Given the description of an element on the screen output the (x, y) to click on. 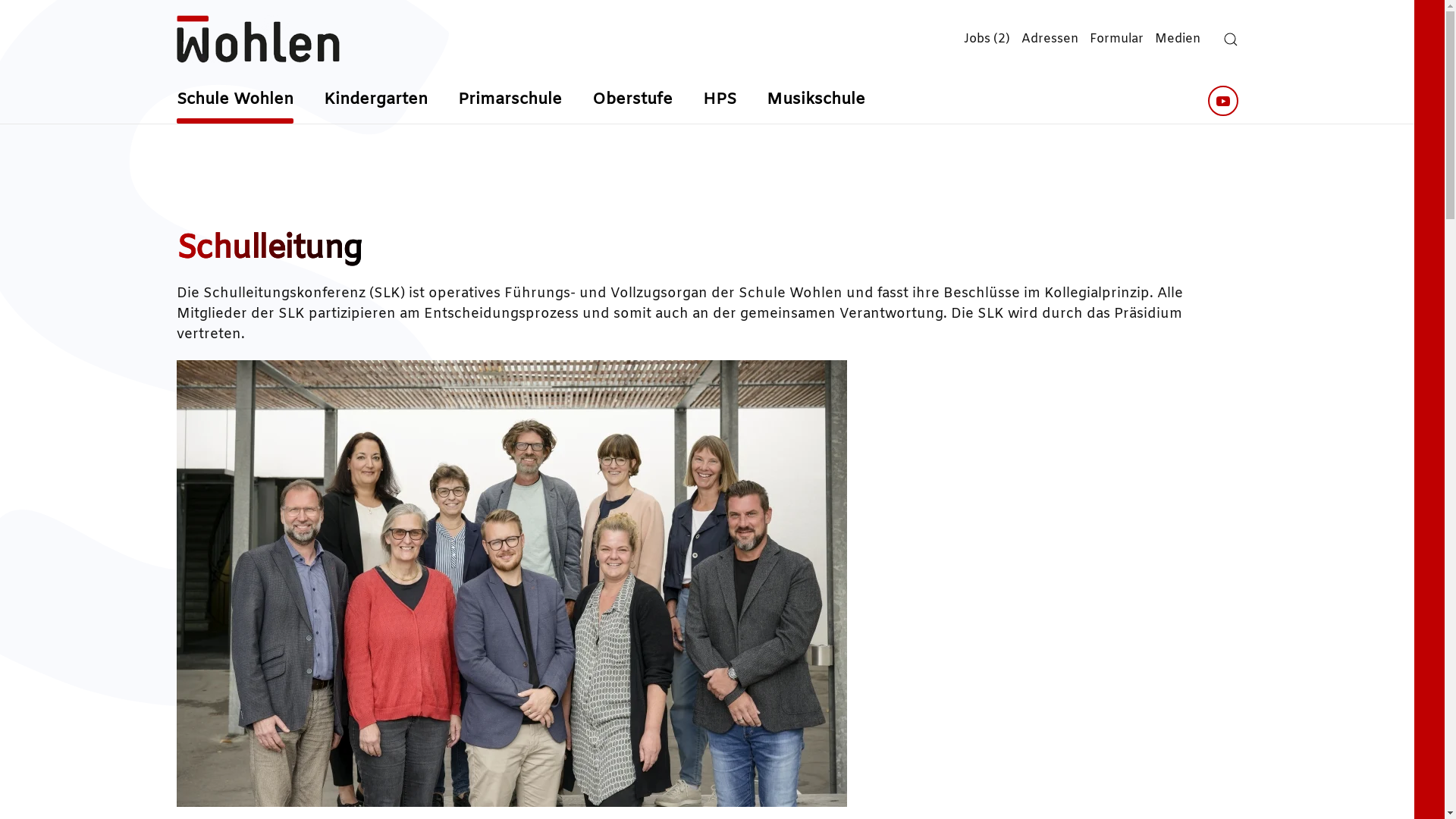
Oberstufe Element type: text (631, 100)
Kindergarten Element type: text (374, 100)
Primarschule Element type: text (509, 100)
Medien Element type: text (1176, 39)
Jobs (2) Element type: text (986, 39)
Musikschule Element type: text (814, 100)
HPS Element type: text (718, 100)
Adressen Element type: text (1048, 39)
Schule Wohlen Element type: text (233, 100)
Formular Element type: text (1115, 39)
